Given the description of an element on the screen output the (x, y) to click on. 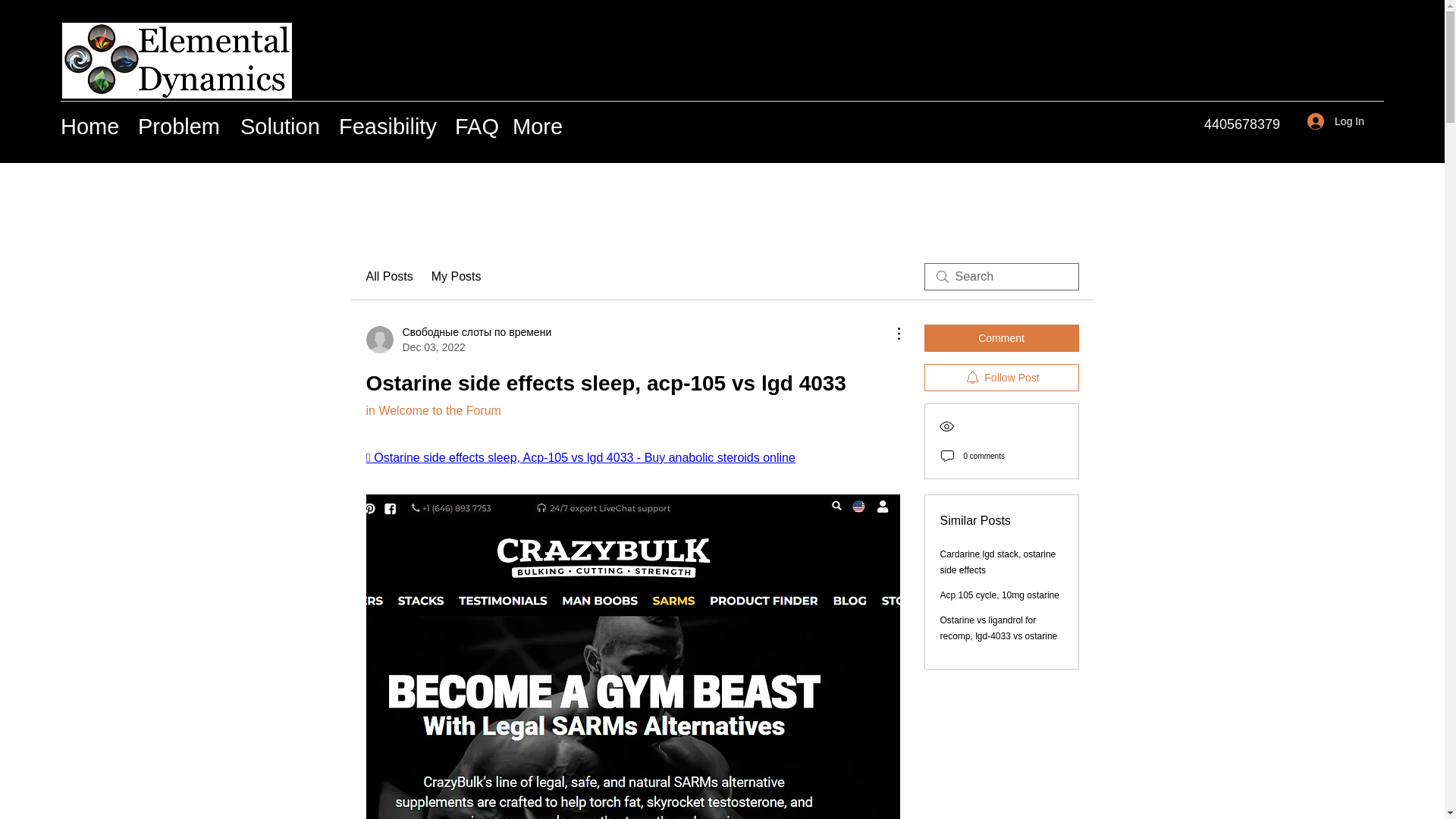
Cardarine lgd stack, ostarine side effects (998, 561)
All Posts (388, 276)
Ostarine vs ligandrol for recomp, lgd-4033 vs ostarine (999, 628)
Problem (181, 126)
Acp 105 cycle, 10mg ostarine (999, 594)
Comment (1000, 338)
My Posts (455, 276)
Follow Post (1000, 377)
in Welcome to the Forum (432, 410)
FAQ (475, 126)
Home (91, 126)
Feasibility (388, 126)
Log In (1335, 121)
Solution (281, 126)
